Given the description of an element on the screen output the (x, y) to click on. 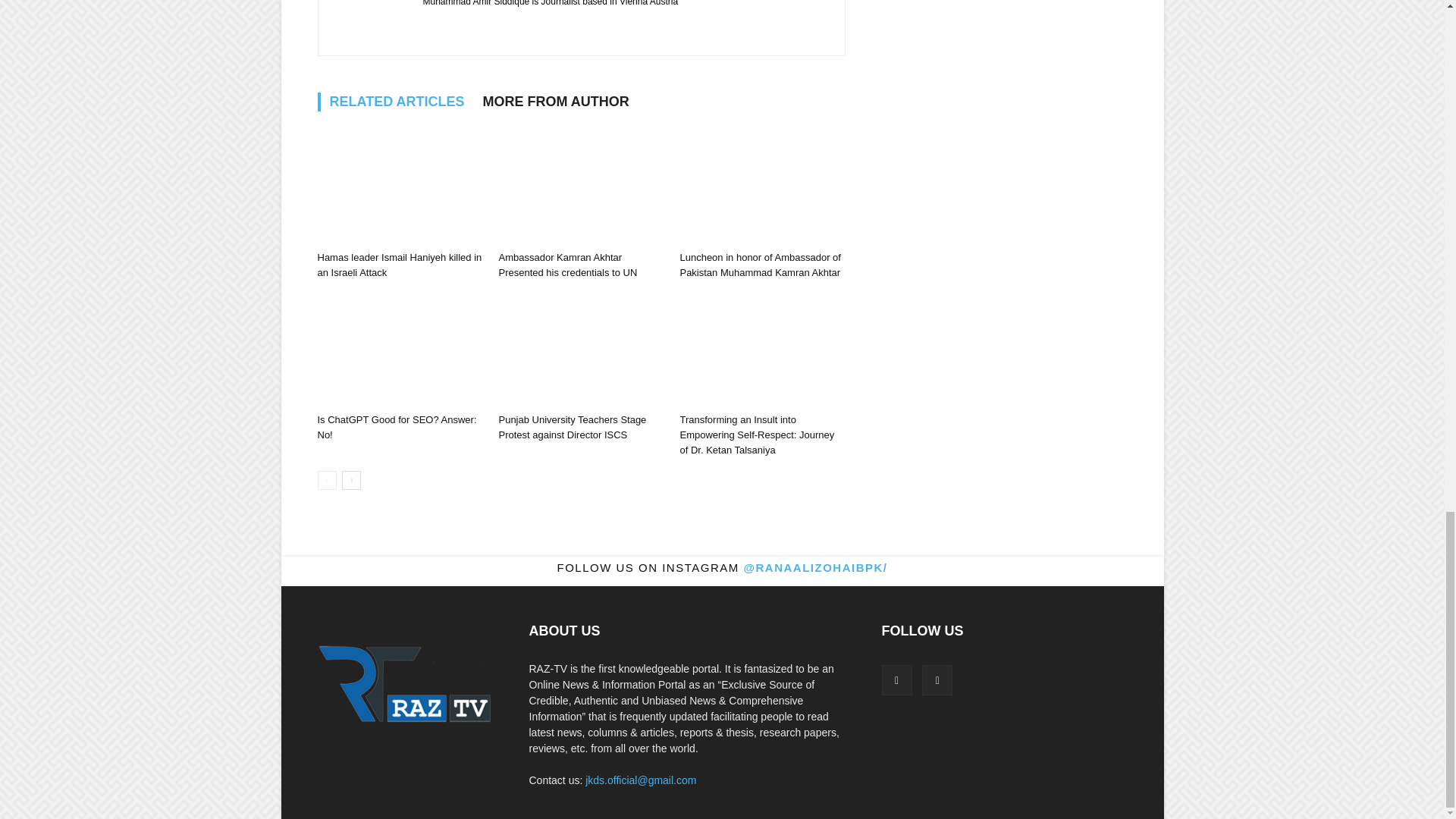
Hamas leader Ismail Haniyeh killed in an Israeli Attack (399, 264)
Hamas leader Ismail Haniyeh killed in an Israeli Attack (399, 187)
Ambassador Kamran Akhtar Presented his credentials to UN (580, 187)
Ambassador Kamran Akhtar Presented his credentials to UN (567, 264)
